Given the description of an element on the screen output the (x, y) to click on. 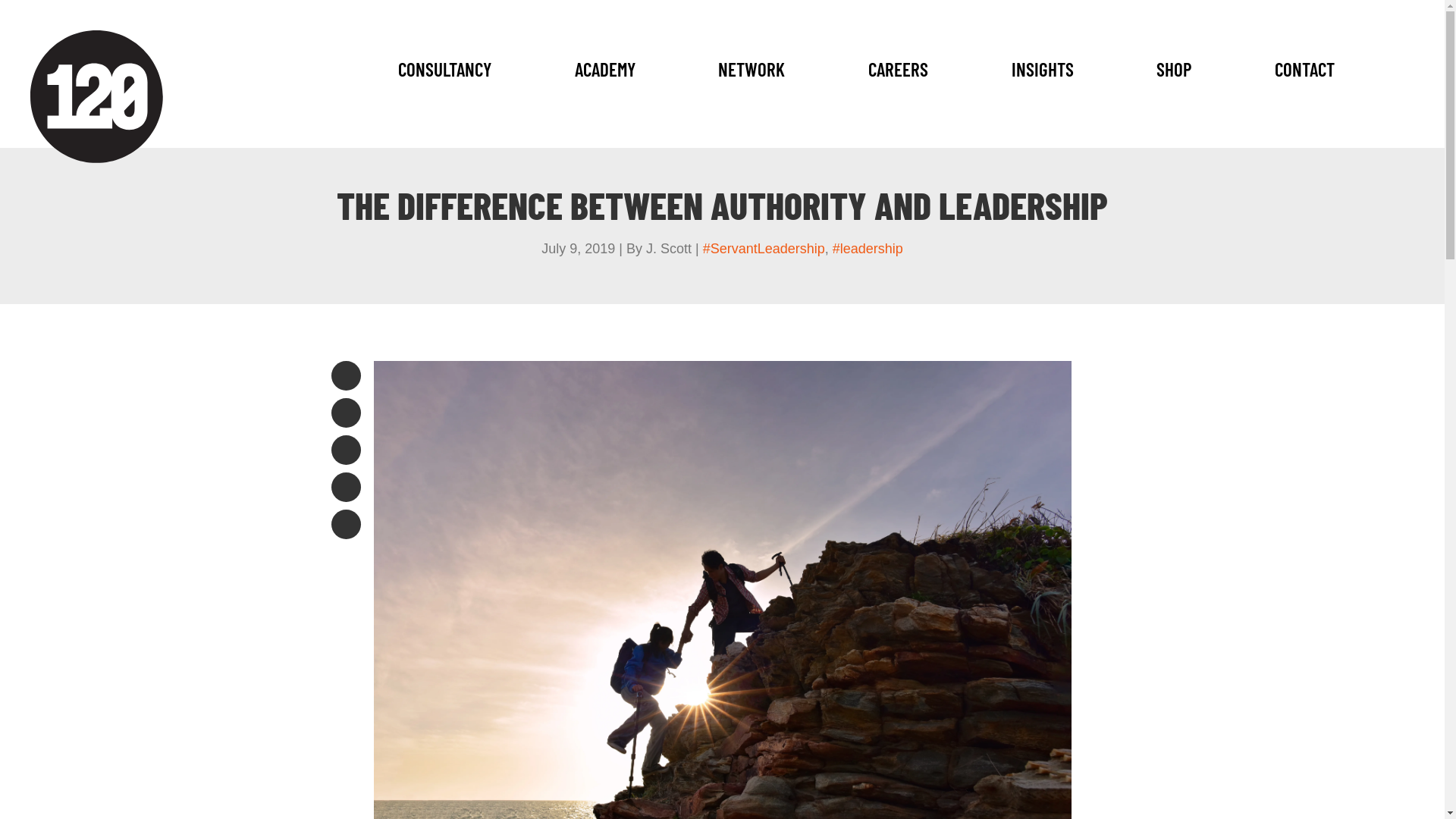
CAREERS Element type: text (898, 73)
CONSULTANCY Element type: text (444, 73)
J. Scott Element type: text (668, 248)
NETWORK Element type: text (751, 73)
SHOP Element type: text (1173, 73)
ACADEMY Element type: text (604, 73)
INSIGHTS Element type: text (1042, 73)
#ServantLeadership Element type: text (763, 248)
120VC Element type: hover (96, 96)
CONTACT Element type: text (1304, 73)
#leadership Element type: text (867, 248)
